Given the description of an element on the screen output the (x, y) to click on. 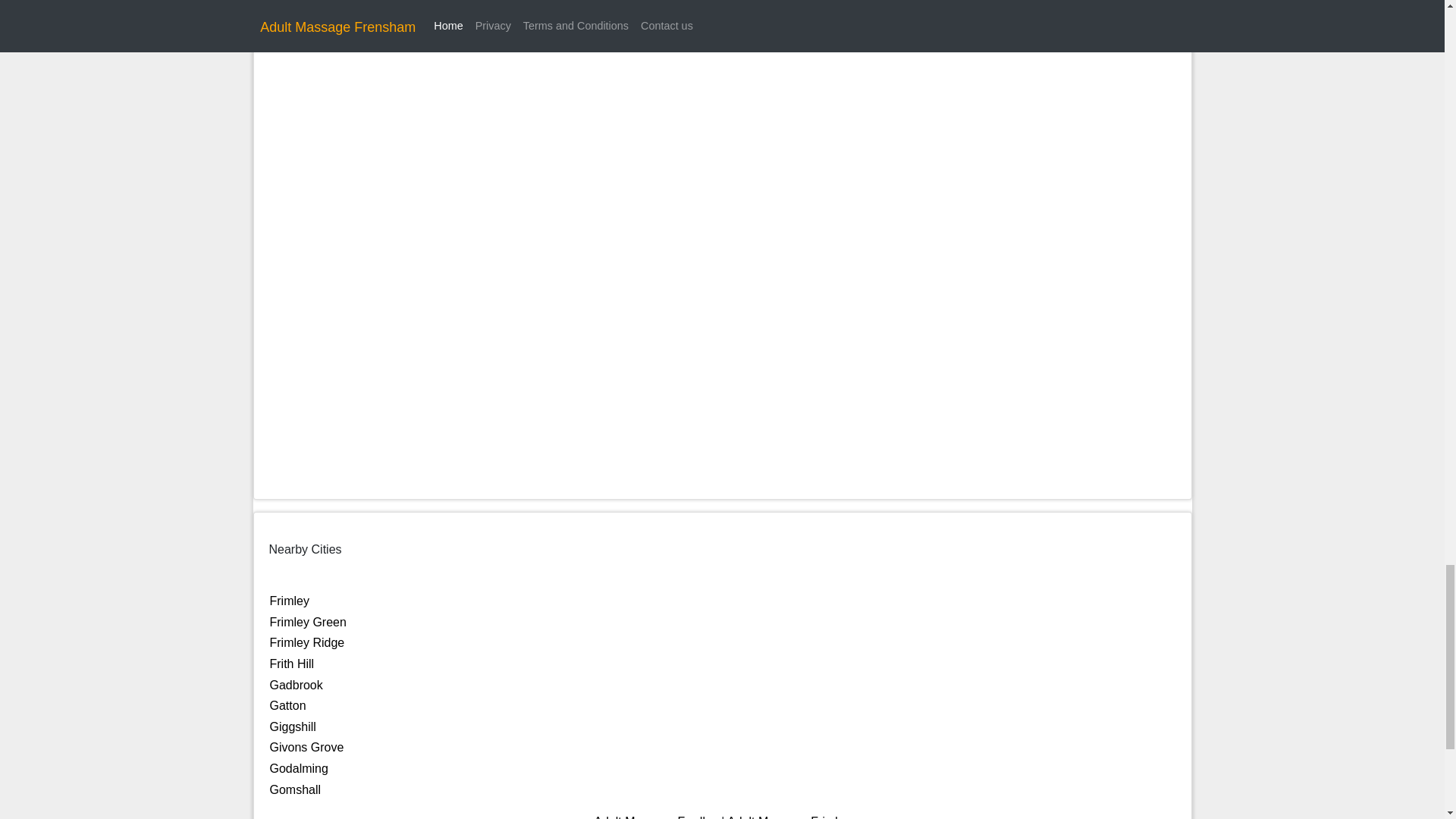
Givons Grove (306, 747)
Gadbrook (296, 684)
Frimley Green (307, 621)
Gomshall (295, 789)
Adult Massage Fredley (655, 816)
Frimley (288, 600)
Gatton (287, 705)
Frith Hill (291, 663)
Godalming (299, 768)
Adult Massage Frimley (788, 816)
Giggshill (292, 726)
Frimley Ridge (307, 642)
